Given the description of an element on the screen output the (x, y) to click on. 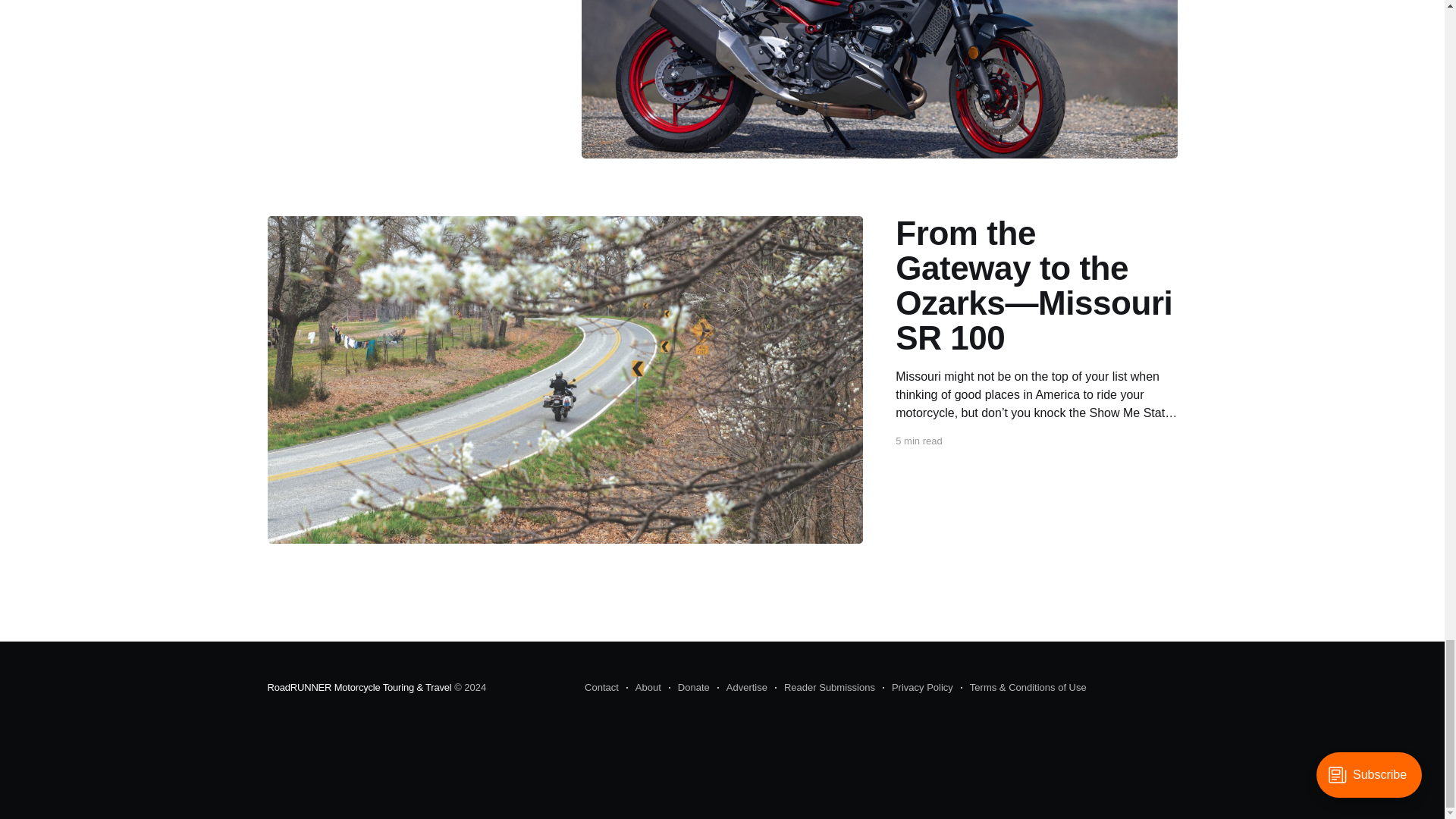
Advertise (742, 687)
Contact (601, 687)
Donate (689, 687)
Reader Submissions (824, 687)
Privacy Policy (917, 687)
About (643, 687)
